Given the description of an element on the screen output the (x, y) to click on. 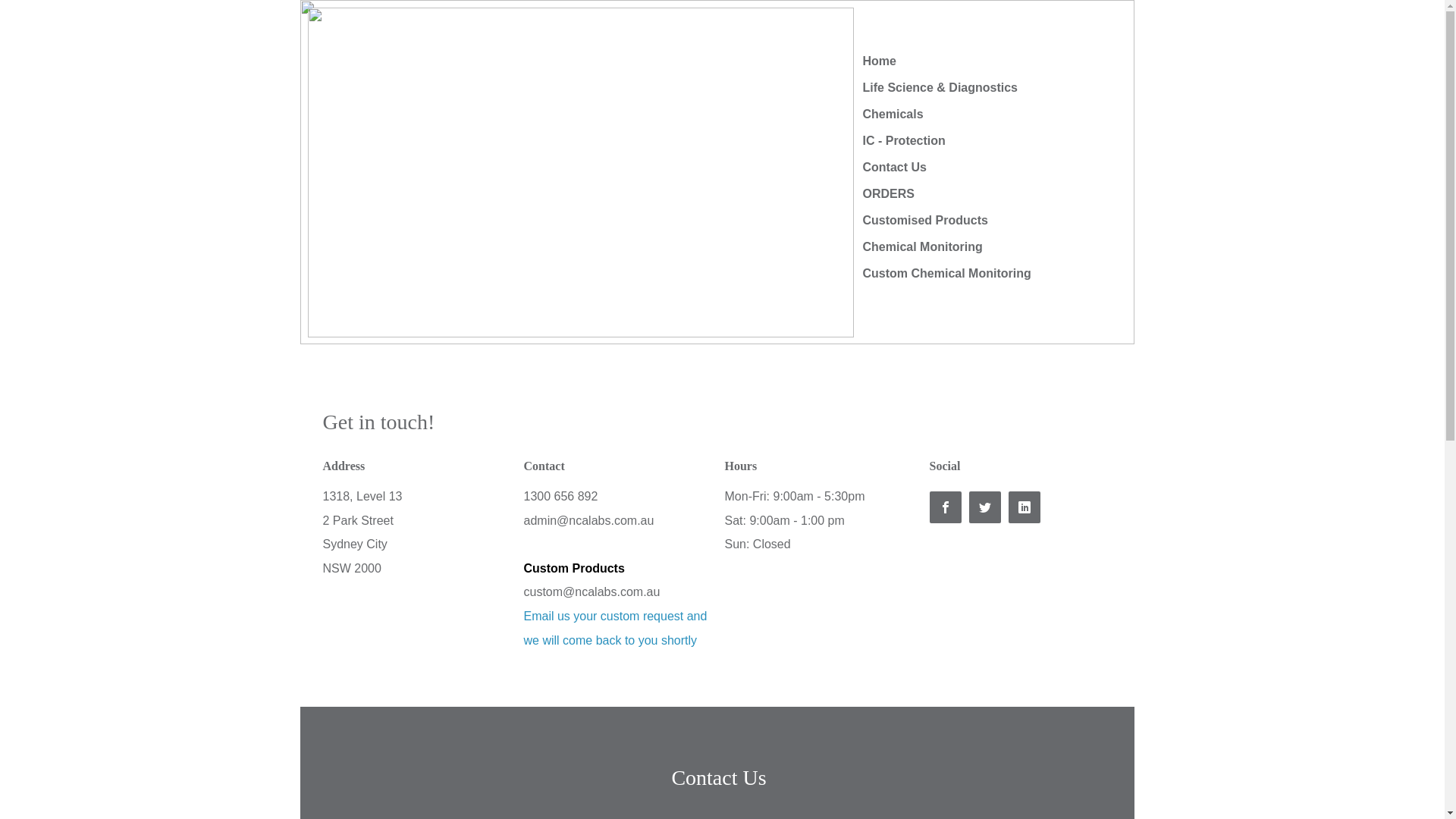
ORDERS Element type: text (888, 194)
IC - Protection Element type: text (904, 140)
Home Element type: text (879, 61)
custom@ncalabs.com.au Element type: text (591, 591)
admin@ncalabs.com.au Element type: text (588, 520)
Contact Us Element type: text (894, 167)
Custom Chemical Monitoring Element type: text (946, 273)
Life Science & Diagnostics Element type: text (940, 87)
Customised Products Element type: text (925, 220)
Chemicals Element type: text (893, 114)
Chemical Monitoring Element type: text (922, 247)
